Given the description of an element on the screen output the (x, y) to click on. 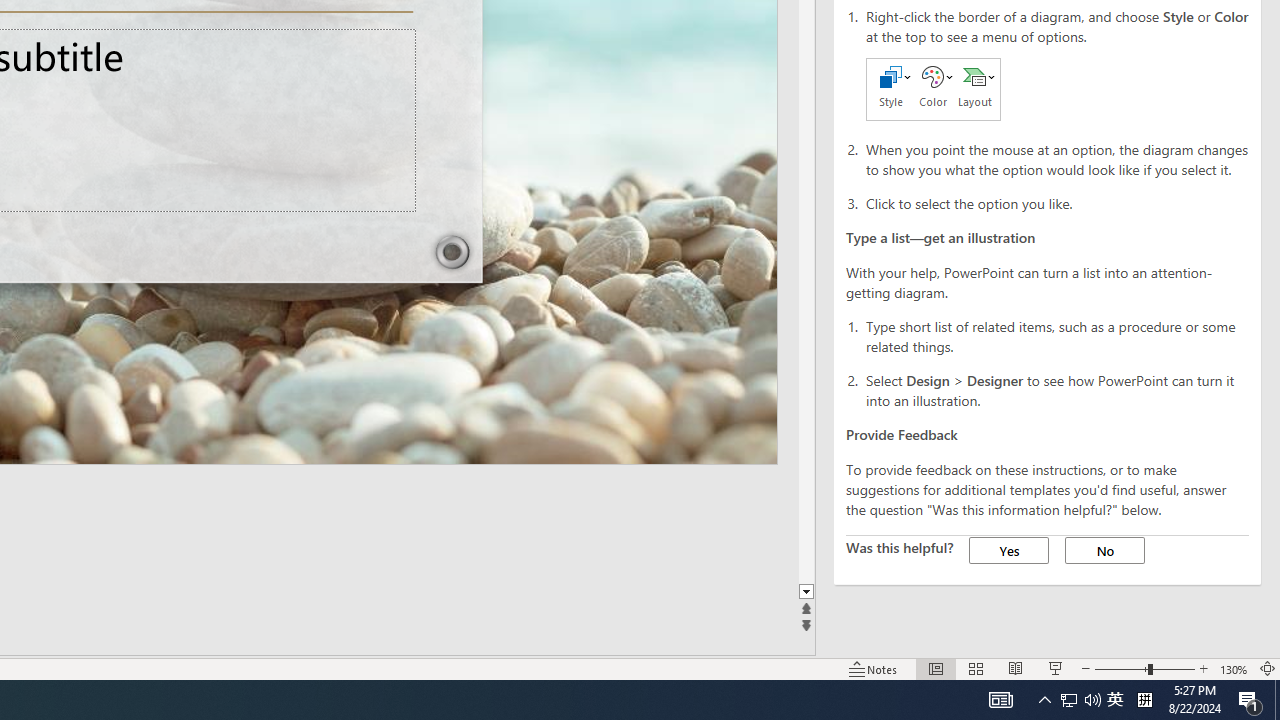
Yes (1008, 550)
Zoom 130% (1234, 668)
No (1104, 550)
Click to select the option you like. (1057, 202)
